Given the description of an element on the screen output the (x, y) to click on. 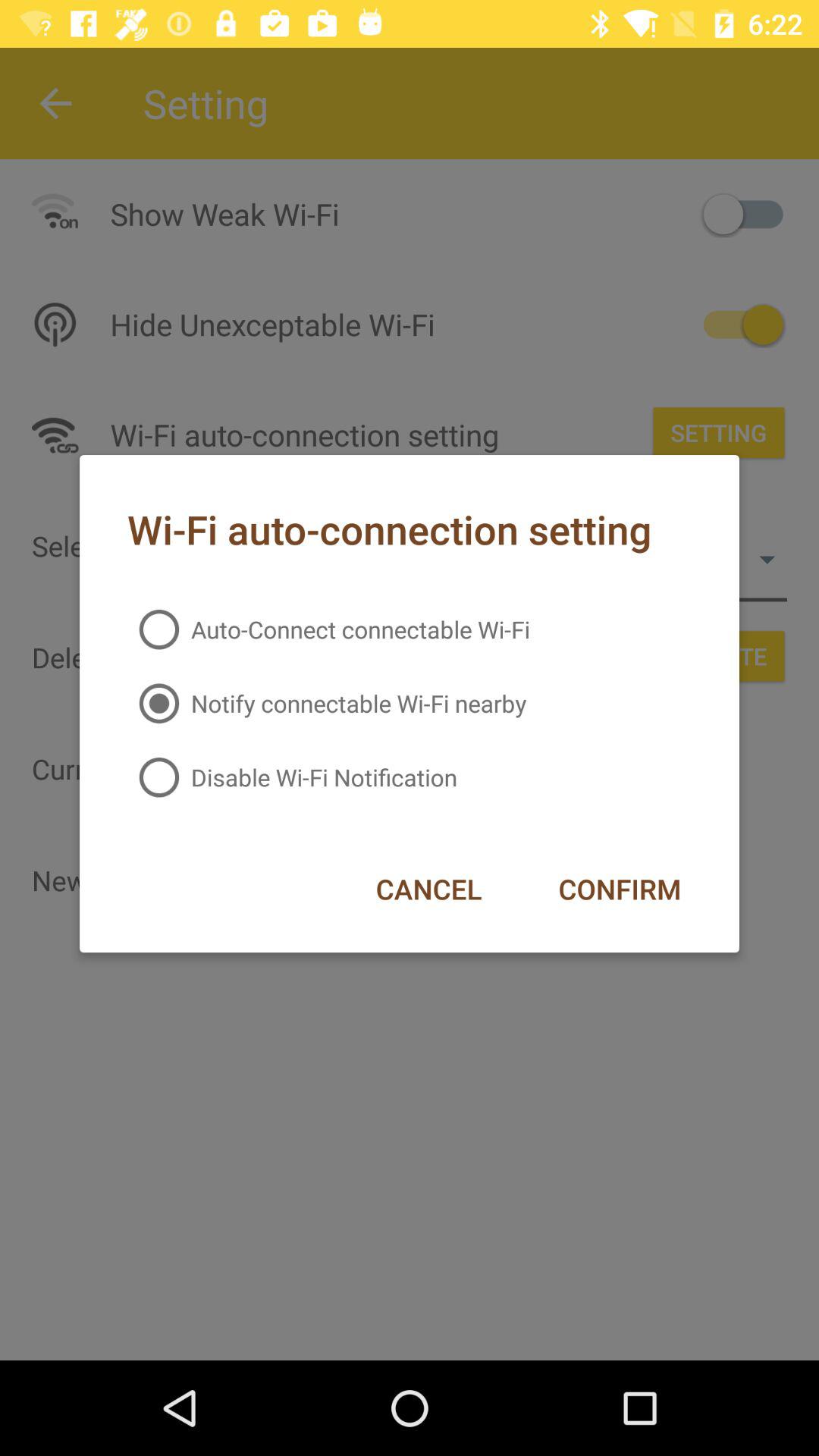
open icon below the disable wi fi (428, 888)
